Given the description of an element on the screen output the (x, y) to click on. 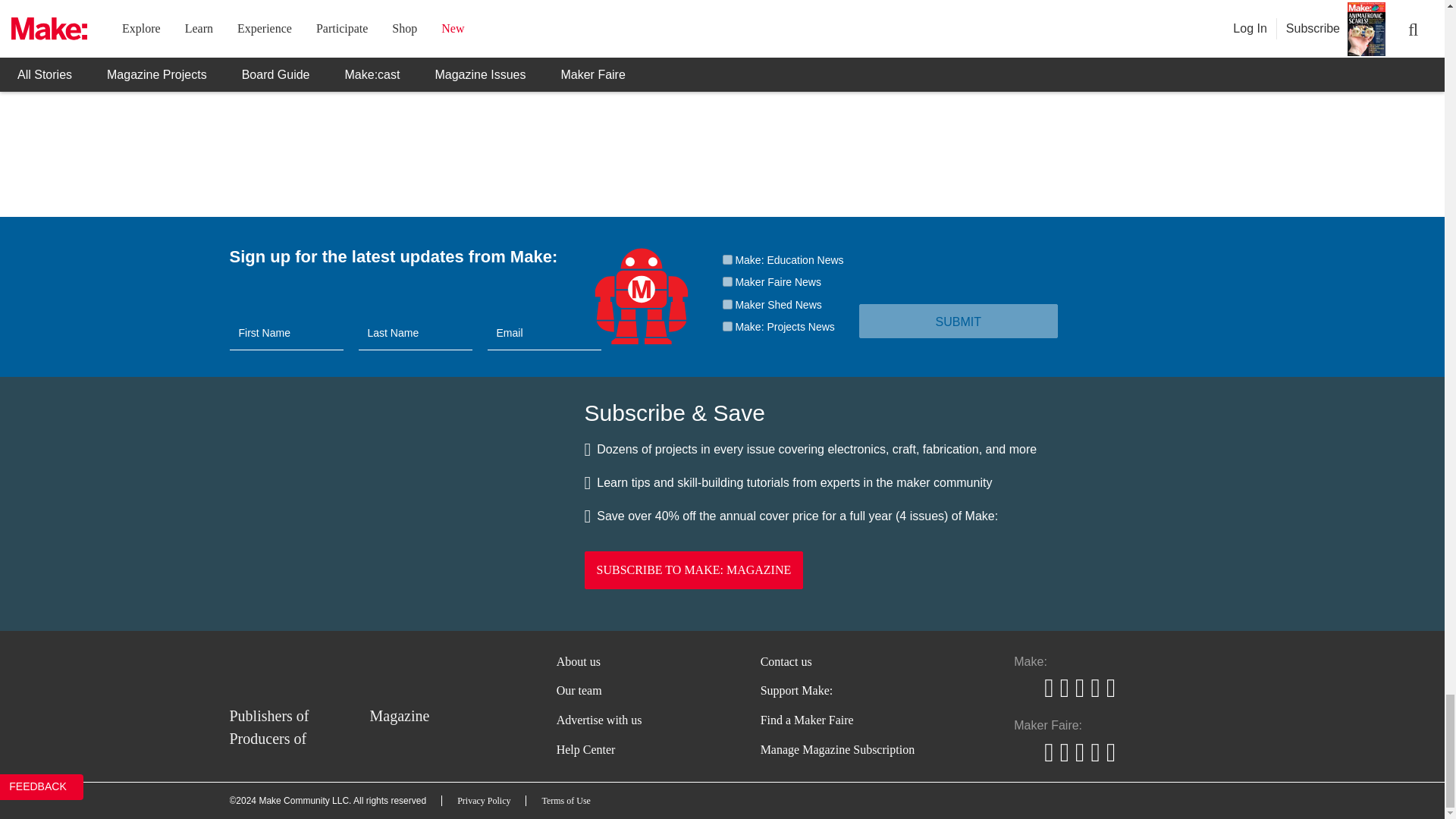
Make: Projects News (727, 326)
Make: Education News (727, 259)
Maker Faire News (727, 281)
Maker Shed News (727, 304)
